Given the description of an element on the screen output the (x, y) to click on. 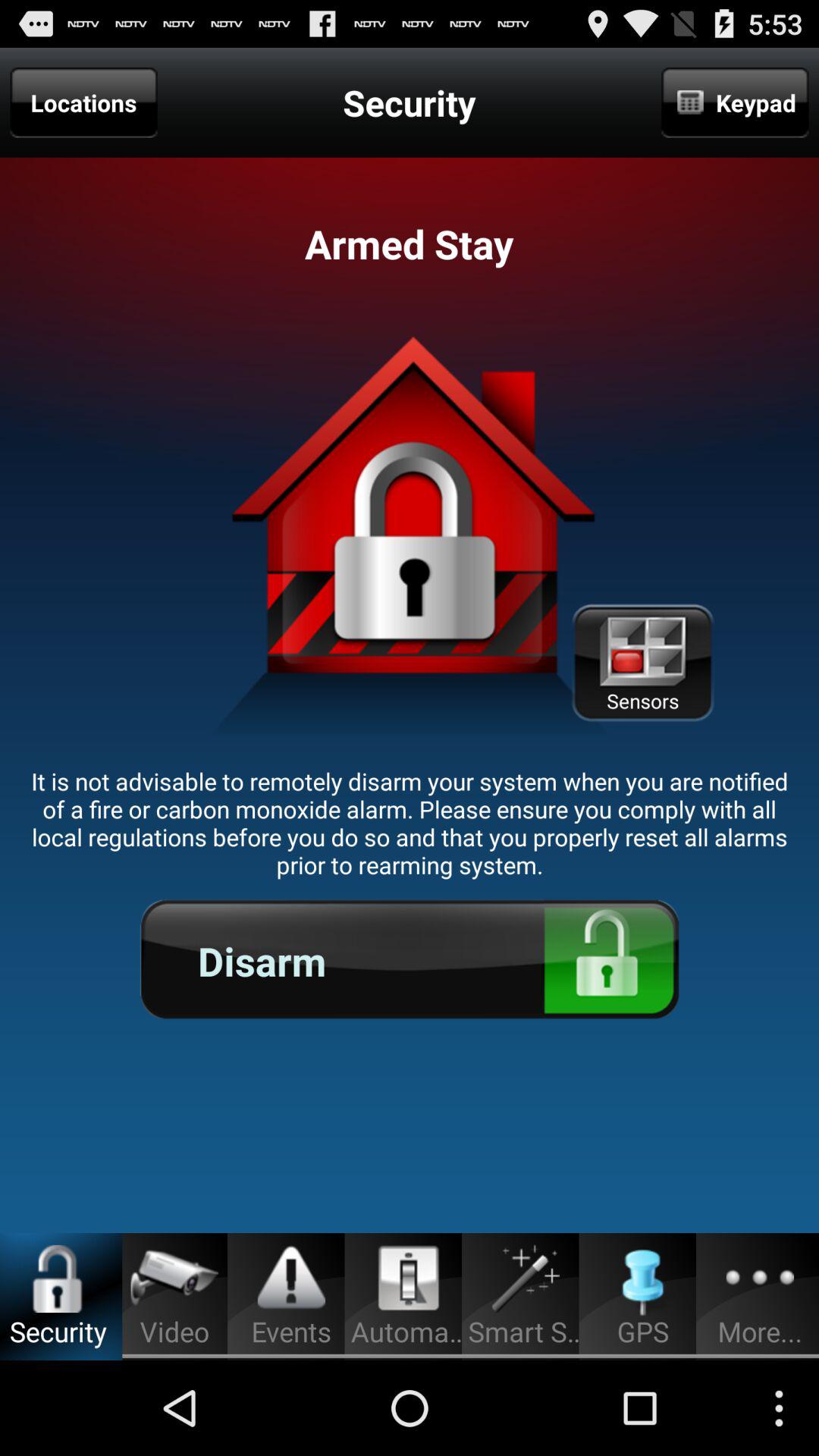
click on the last but one button in the bottom menu bar (643, 1280)
click on the three dot button at the bottom of the page (759, 1278)
click on icon left to gps (525, 1278)
click on the image above events (291, 1278)
click on the icon at top right corner of the page (734, 102)
select the button locations at the top of the page (84, 102)
